Given the description of an element on the screen output the (x, y) to click on. 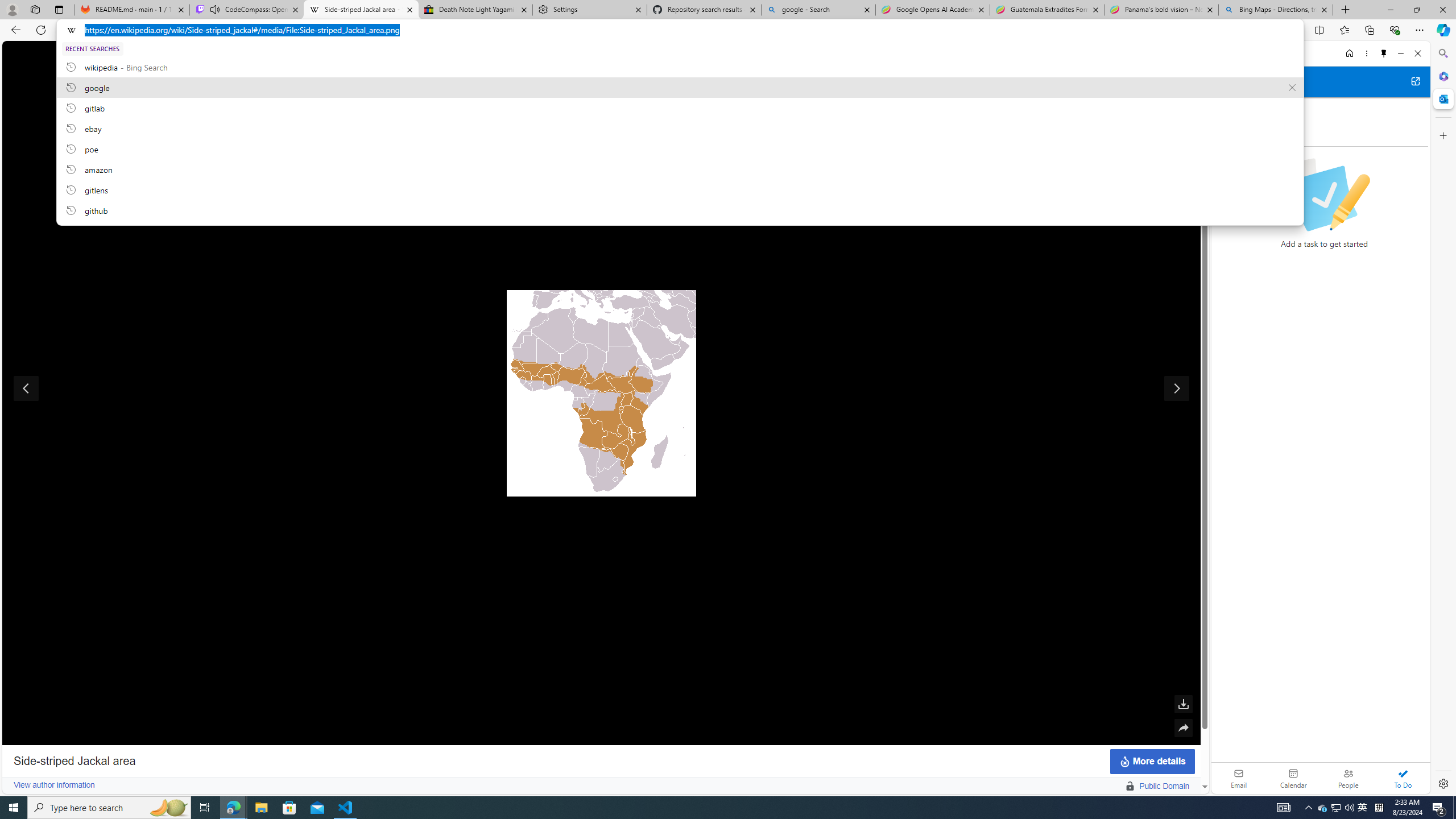
Share or embed this file (1183, 728)
Checkbox with a pencil (1324, 194)
Calendar. Date today is 22 (1293, 777)
wikipedia, recent searches from history (679, 66)
More details (1152, 761)
Email (1238, 777)
Add a task (1228, 133)
undefined (600, 392)
gitlens, recent searches from history (679, 189)
